Given the description of an element on the screen output the (x, y) to click on. 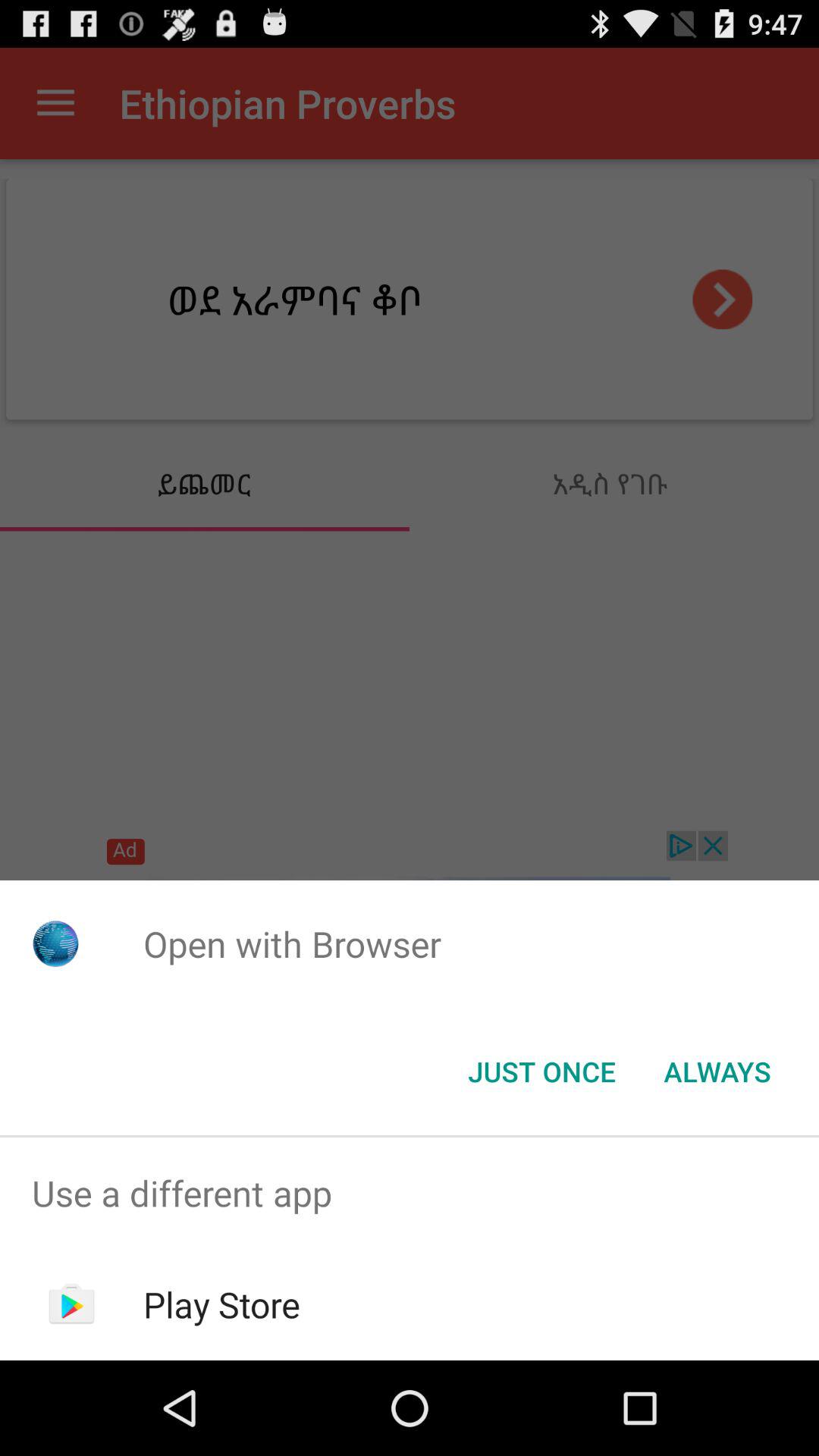
turn off icon next to the just once item (717, 1071)
